Given the description of an element on the screen output the (x, y) to click on. 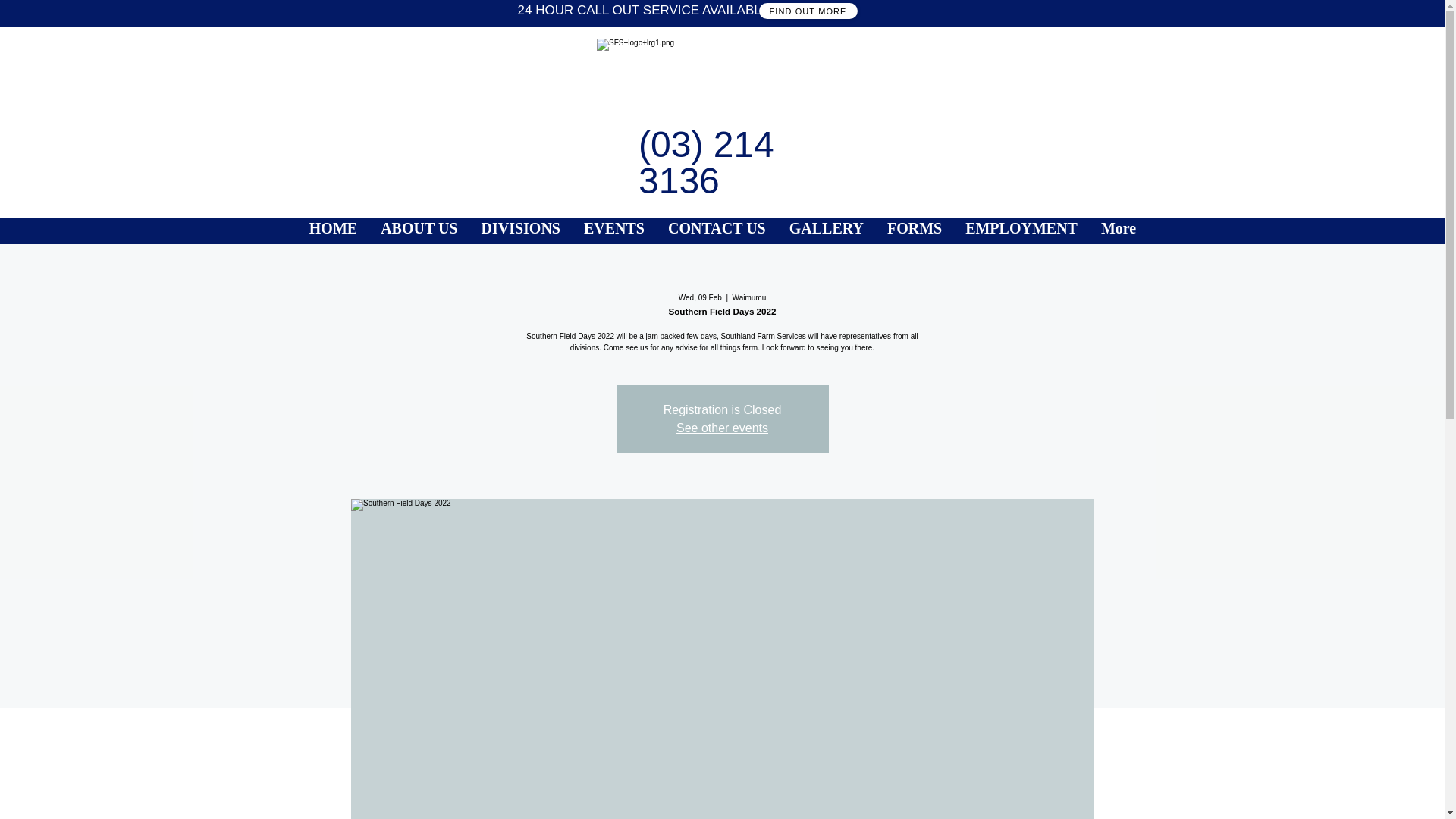
See other events (722, 427)
GALLERY (826, 230)
EMPLOYMENT (1021, 230)
ABOUT US (418, 230)
EVENTS (614, 230)
HOME (332, 230)
FORMS (914, 230)
CONTACT US (716, 230)
FIND OUT MORE (807, 10)
